Given the description of an element on the screen output the (x, y) to click on. 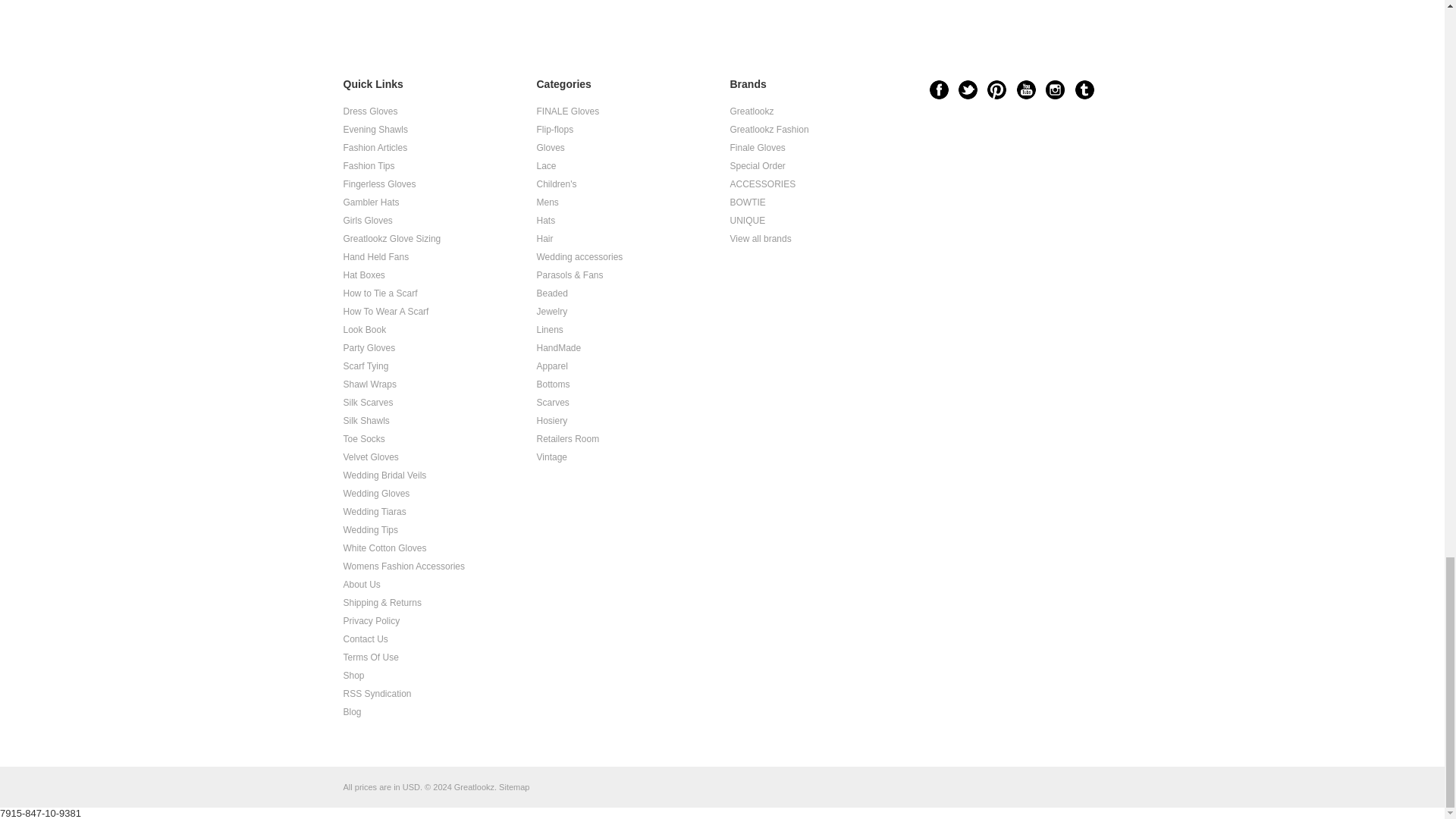
Pinterest (996, 89)
YouTube (1025, 89)
Facebook (939, 89)
Twitter (967, 89)
